Given the description of an element on the screen output the (x, y) to click on. 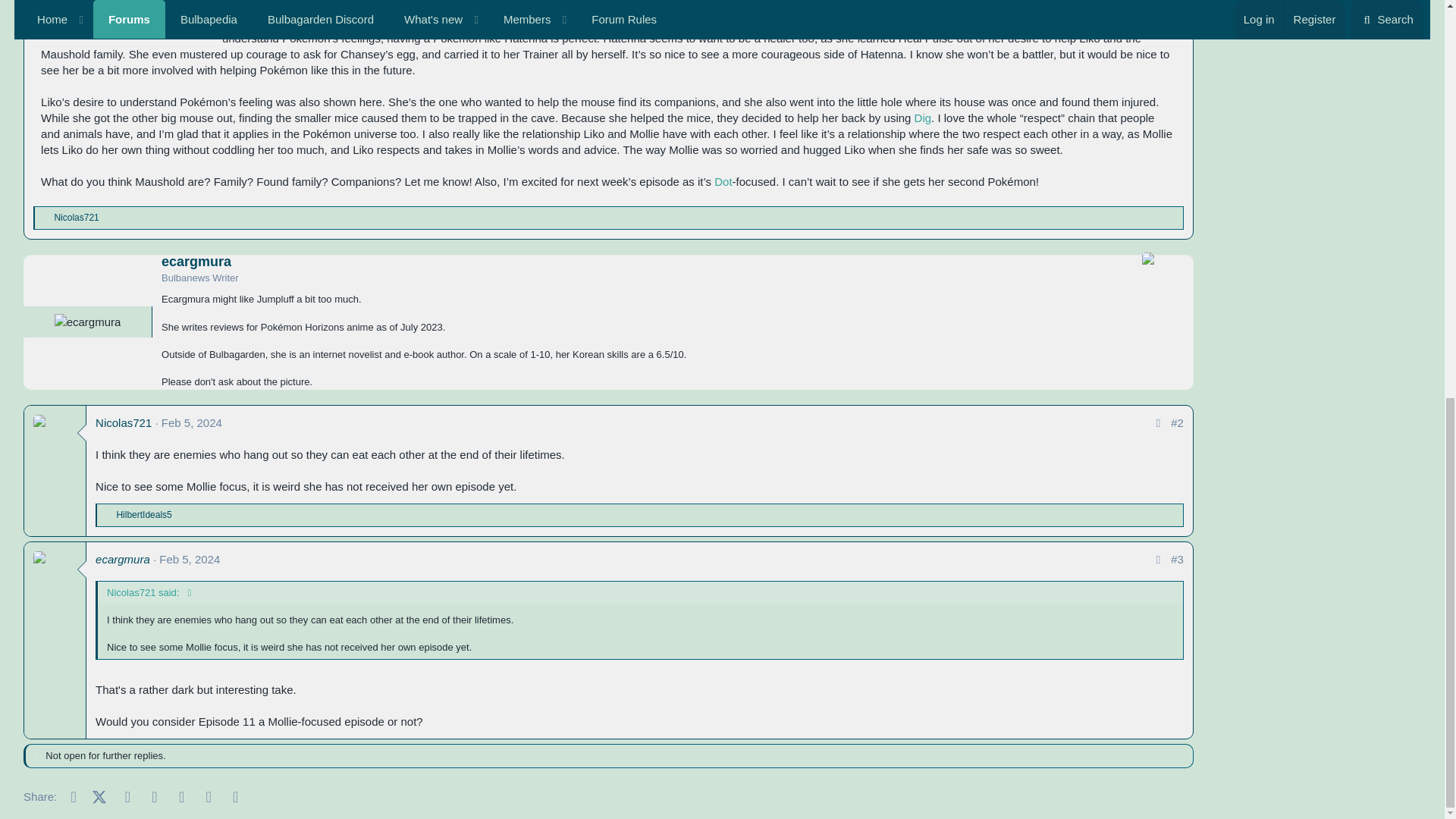
Why not?    :wynaut: (572, 452)
Maushold, missing one mouse (123, 8)
Like (107, 515)
Gold Star (44, 218)
Why not?    :wynaut: (521, 617)
Feb 5, 2024 at 3:30 PM (191, 422)
Feb 5, 2024 at 3:50 PM (188, 558)
